Given the description of an element on the screen output the (x, y) to click on. 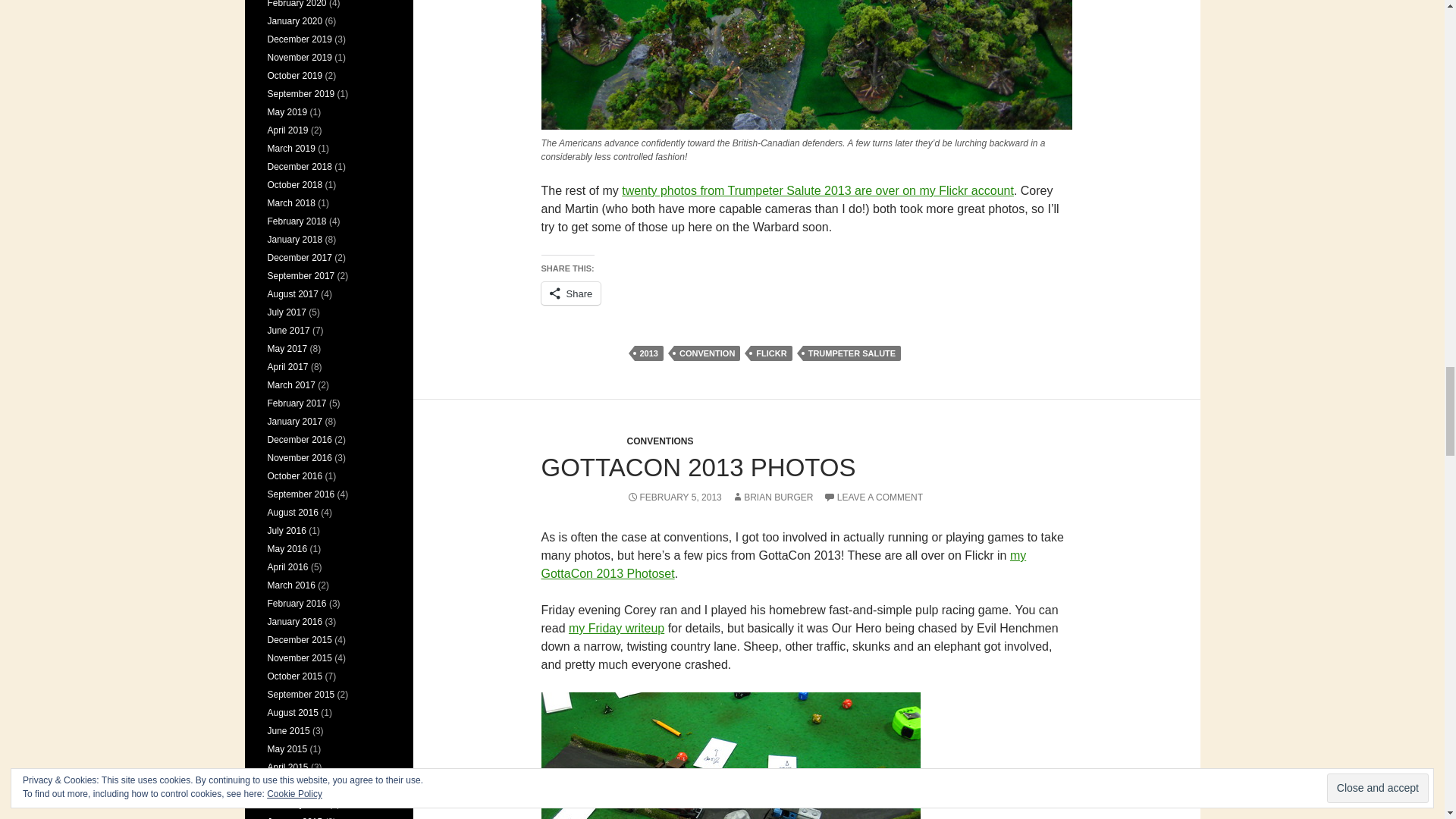
GottaCon 2013 set on Flickr (783, 563)
Trumpeter 2013 photos on Flickr (817, 190)
